Given the description of an element on the screen output the (x, y) to click on. 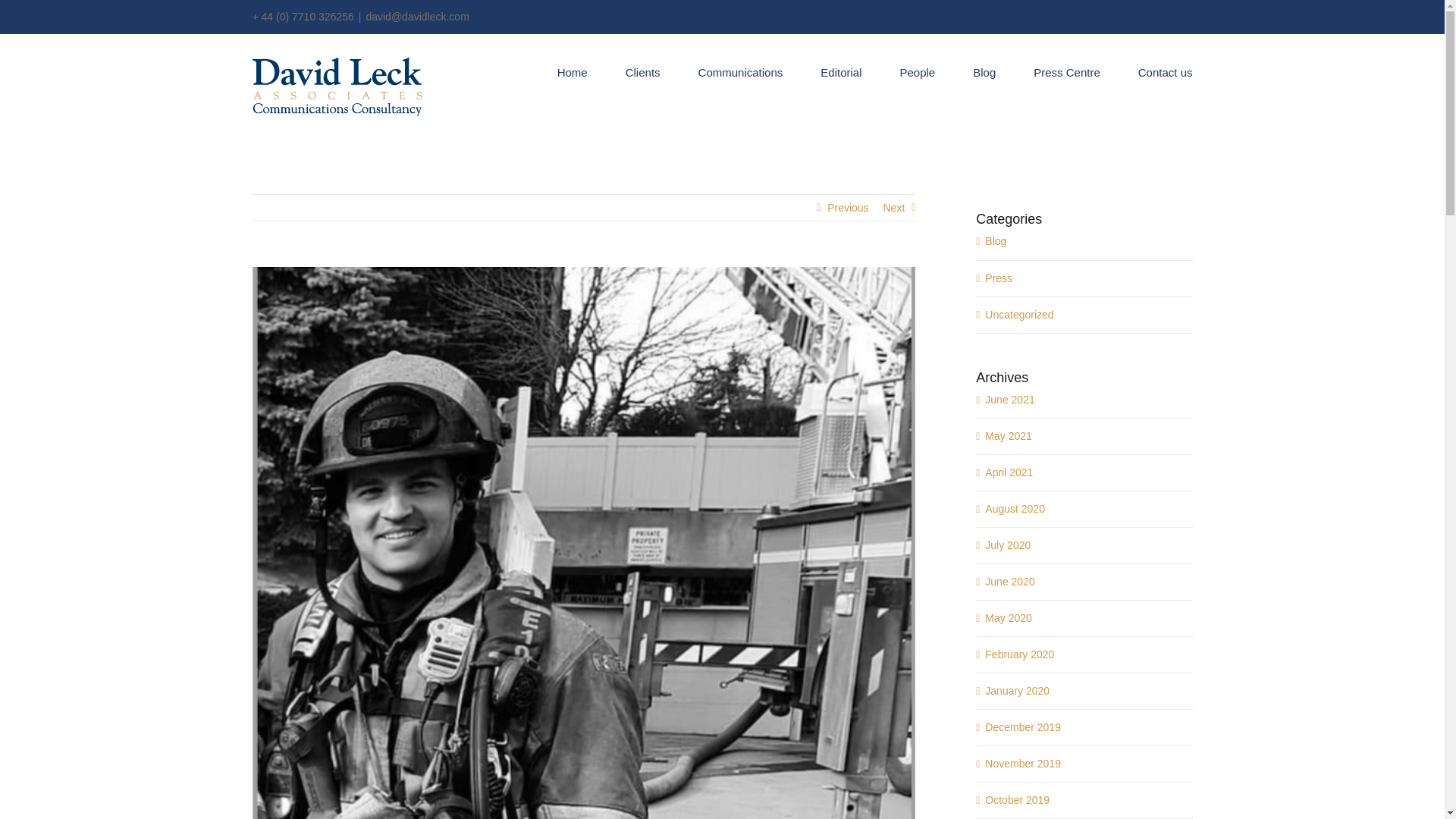
Previous (847, 207)
Communications (740, 70)
Press Centre (1066, 70)
